Given the description of an element on the screen output the (x, y) to click on. 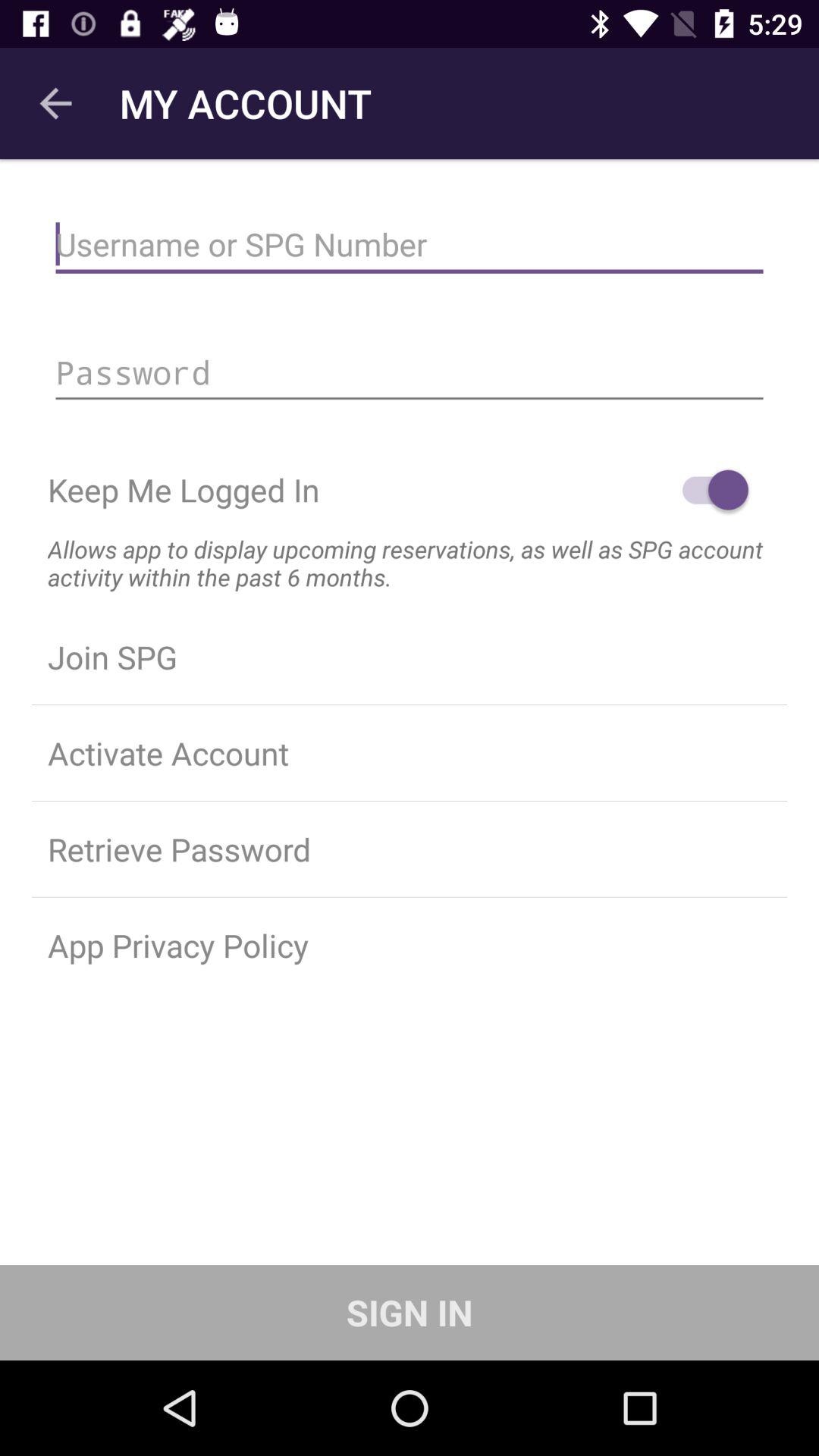
login with password (409, 372)
